Given the description of an element on the screen output the (x, y) to click on. 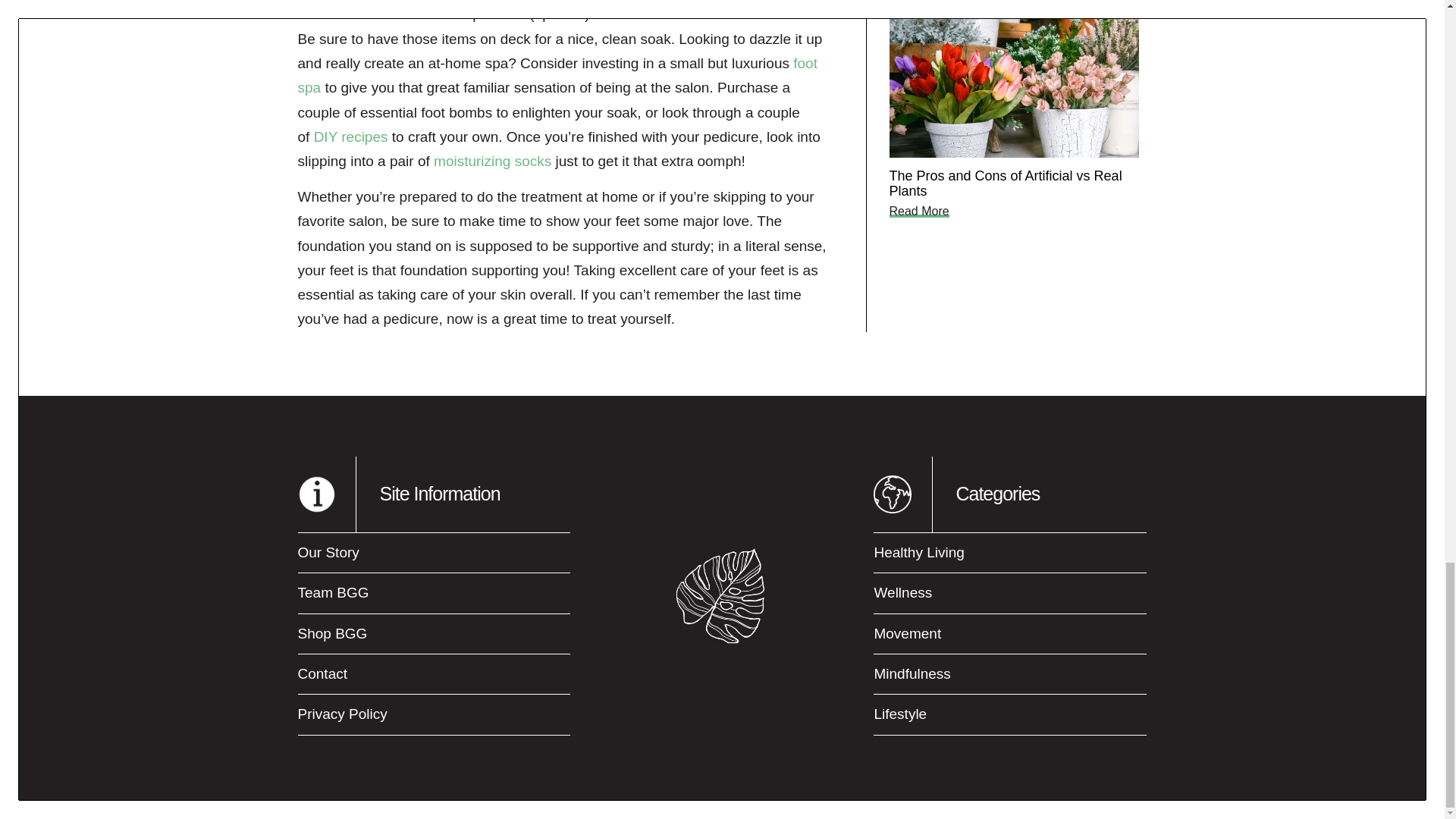
moisturizing socks (492, 160)
Read More (918, 210)
Our Story (433, 552)
 foot spa (556, 75)
The Pros and Cons of Artificial vs Real Plants (1004, 183)
Shop BGG (433, 633)
DIY recipes (351, 136)
Contact (433, 673)
Privacy Policy (433, 713)
Team BGG (433, 592)
